Given the description of an element on the screen output the (x, y) to click on. 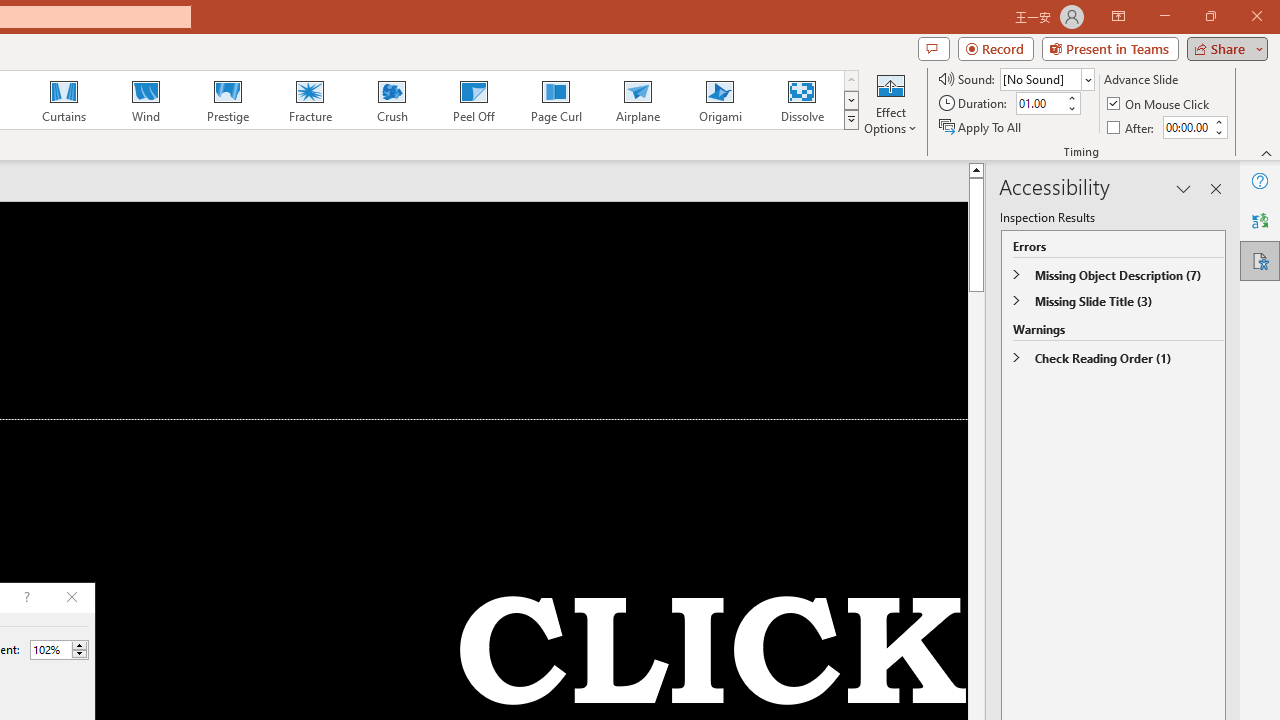
Percent (50, 649)
Less (79, 654)
Origami (719, 100)
Effect Options (890, 102)
Curtains (63, 100)
Context help (25, 597)
Crush (391, 100)
Translator (1260, 220)
Airplane (637, 100)
